Given the description of an element on the screen output the (x, y) to click on. 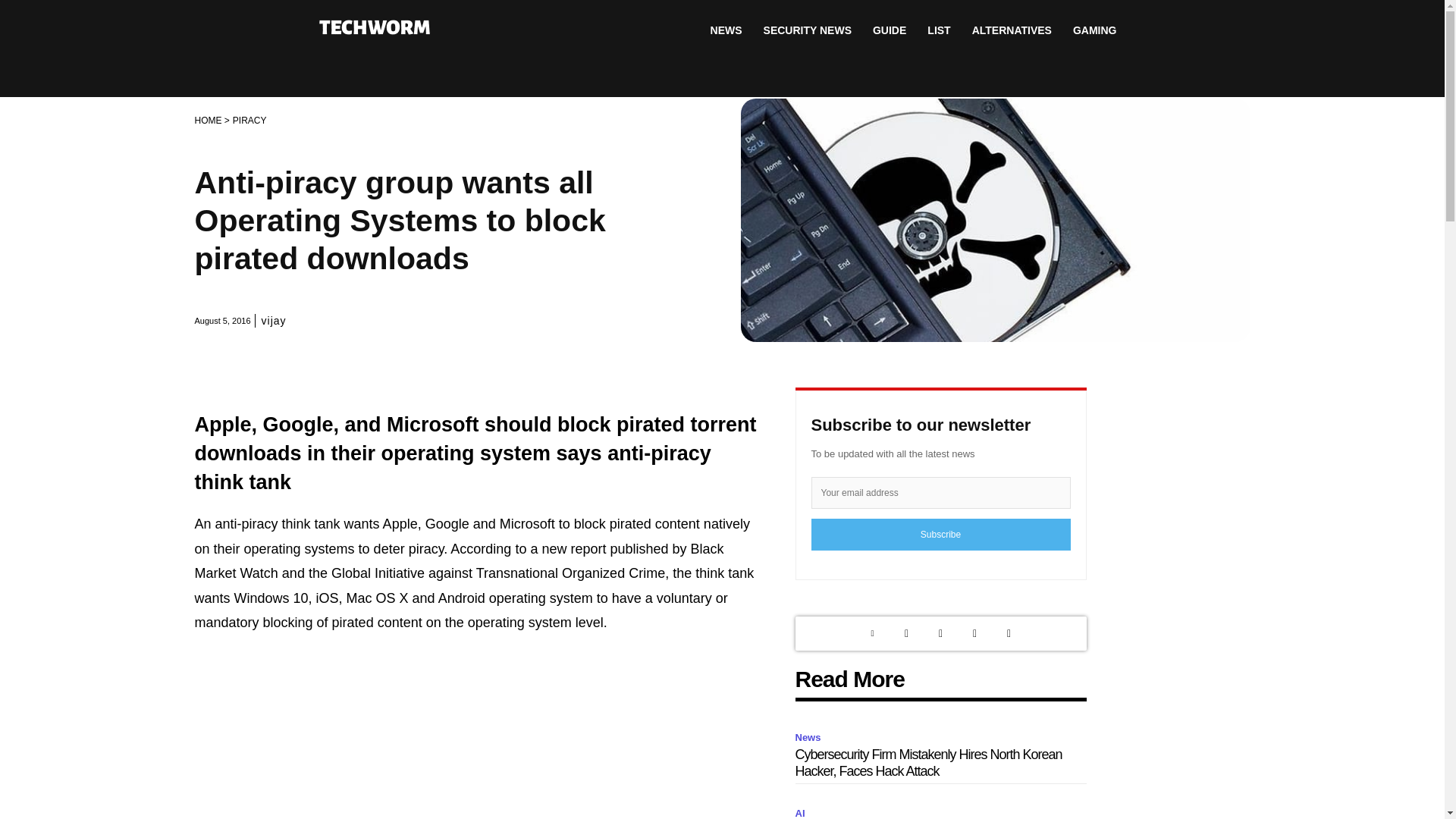
GUIDE (889, 30)
GAMING (1094, 30)
View all posts in Piracy (249, 120)
SECURITY NEWS (806, 30)
Subscribe (940, 534)
Instagram (940, 633)
AI (801, 812)
News (809, 737)
Facebook (974, 633)
Advertisement (476, 736)
vijay (274, 320)
ALTERNATIVES (1011, 30)
Twitter (906, 633)
